Given the description of an element on the screen output the (x, y) to click on. 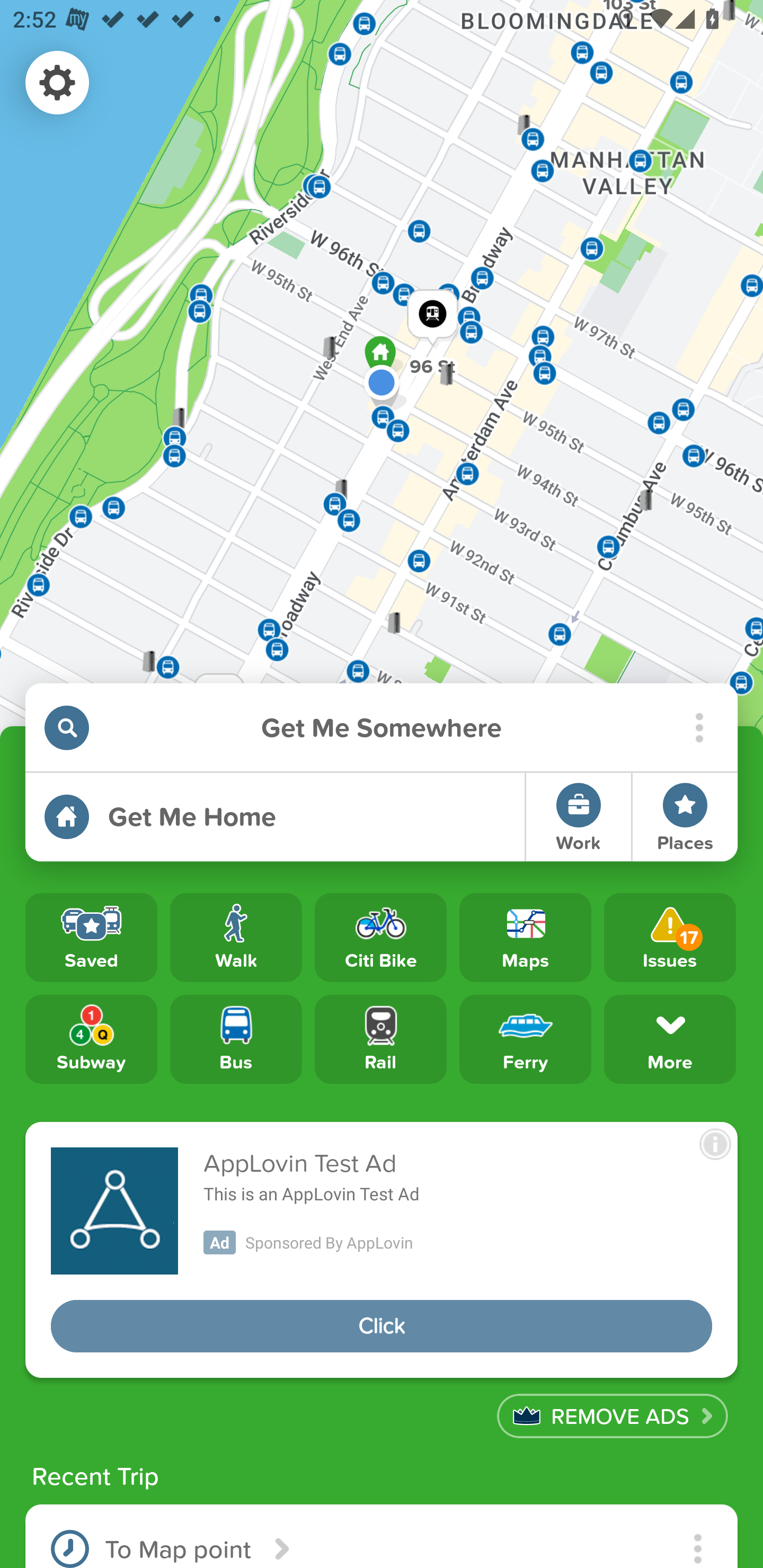
Saved (91, 937)
